Given the description of an element on the screen output the (x, y) to click on. 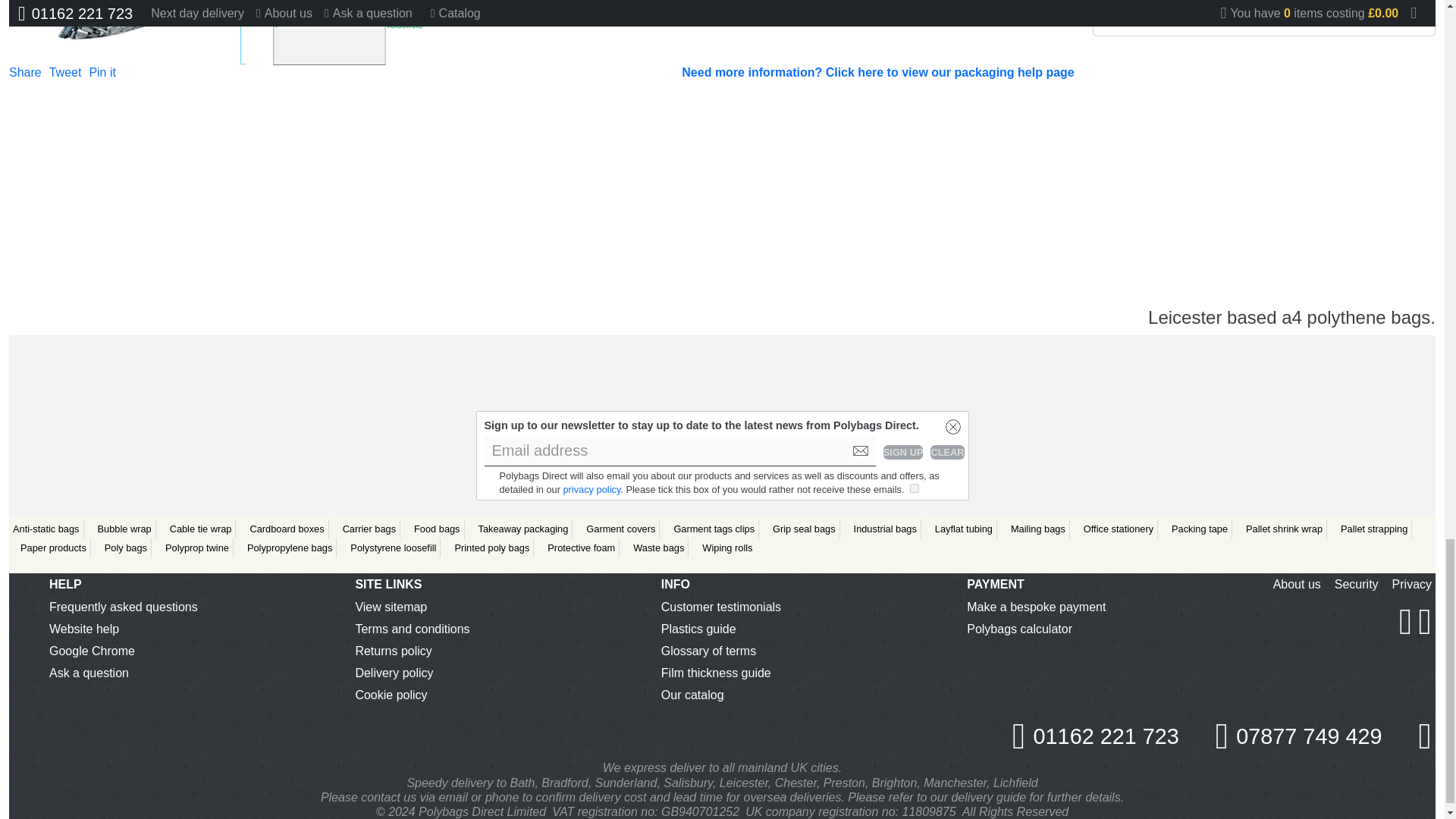
Polythene bag (325, 32)
Heavy duty poly bags (108, 32)
